Given the description of an element on the screen output the (x, y) to click on. 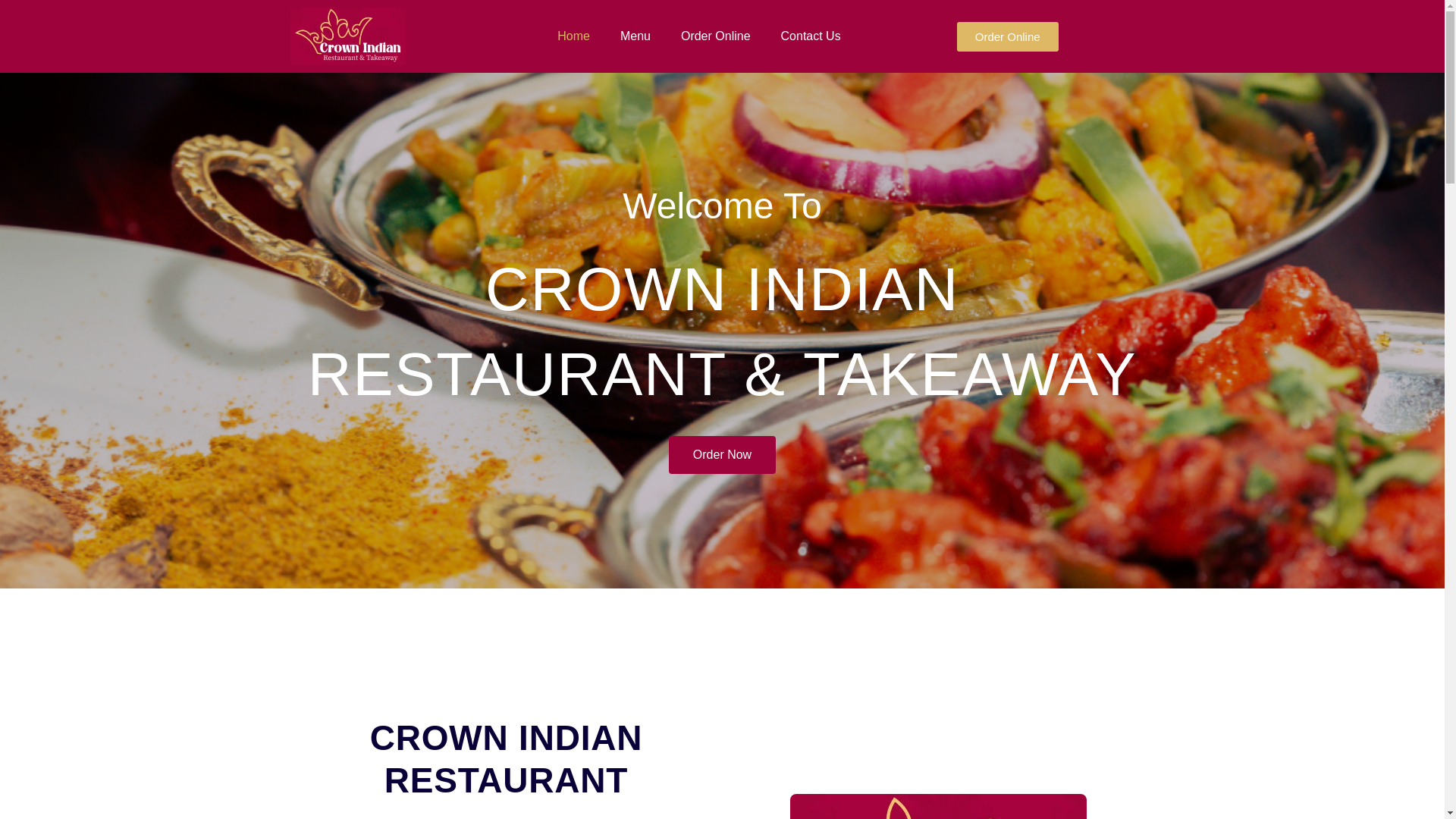
Contact Us (810, 36)
Order Online (715, 36)
Order Online (1007, 36)
Menu (635, 36)
Home (573, 36)
